Given the description of an element on the screen output the (x, y) to click on. 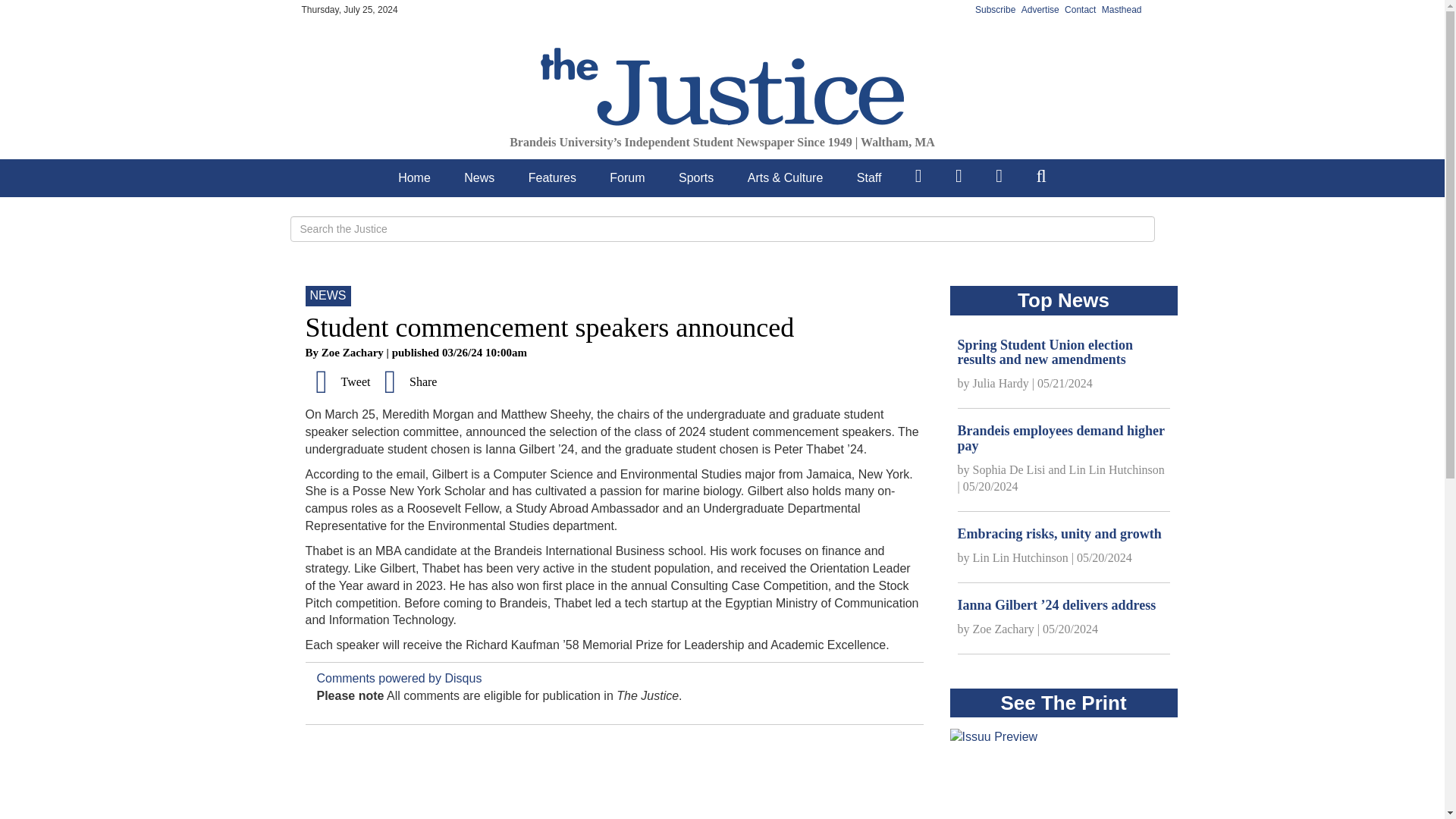
Brandeis employees demand higher pay (1059, 438)
Lin Lin Hutchinson (1116, 469)
Share (406, 381)
Forum (627, 177)
NEWS (327, 295)
Contact (1080, 9)
Tweet (338, 381)
Spring Student Union election results and new amendments (1044, 352)
Masthead (1121, 9)
Comments powered by Disqus (399, 677)
Sophia De Lisi (1008, 469)
Features (552, 177)
Julia Hardy (999, 382)
News (478, 177)
Advertise (1040, 9)
